Given the description of an element on the screen output the (x, y) to click on. 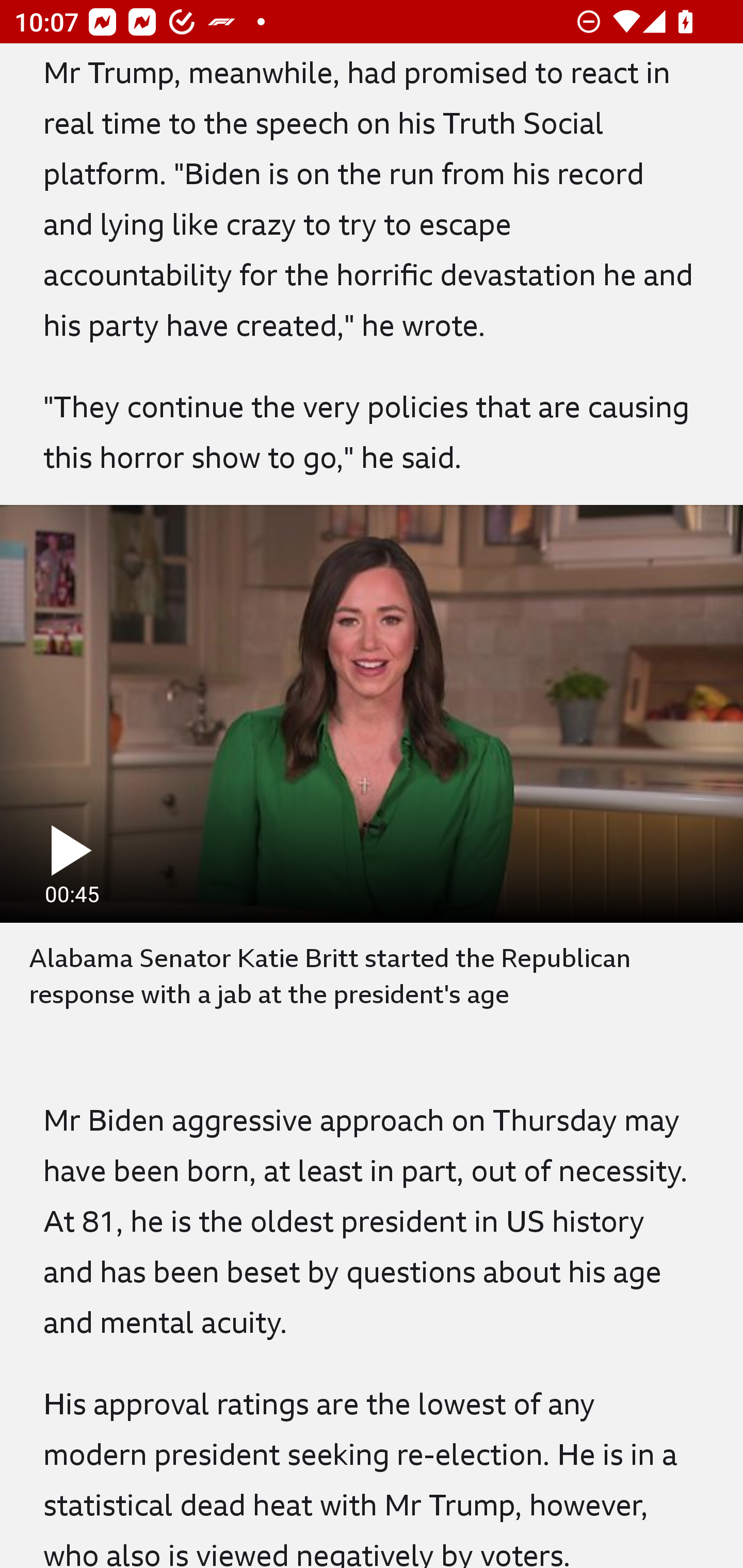
play fullscreen 00:45 0 minutes, 45 seconds (371, 712)
